Given the description of an element on the screen output the (x, y) to click on. 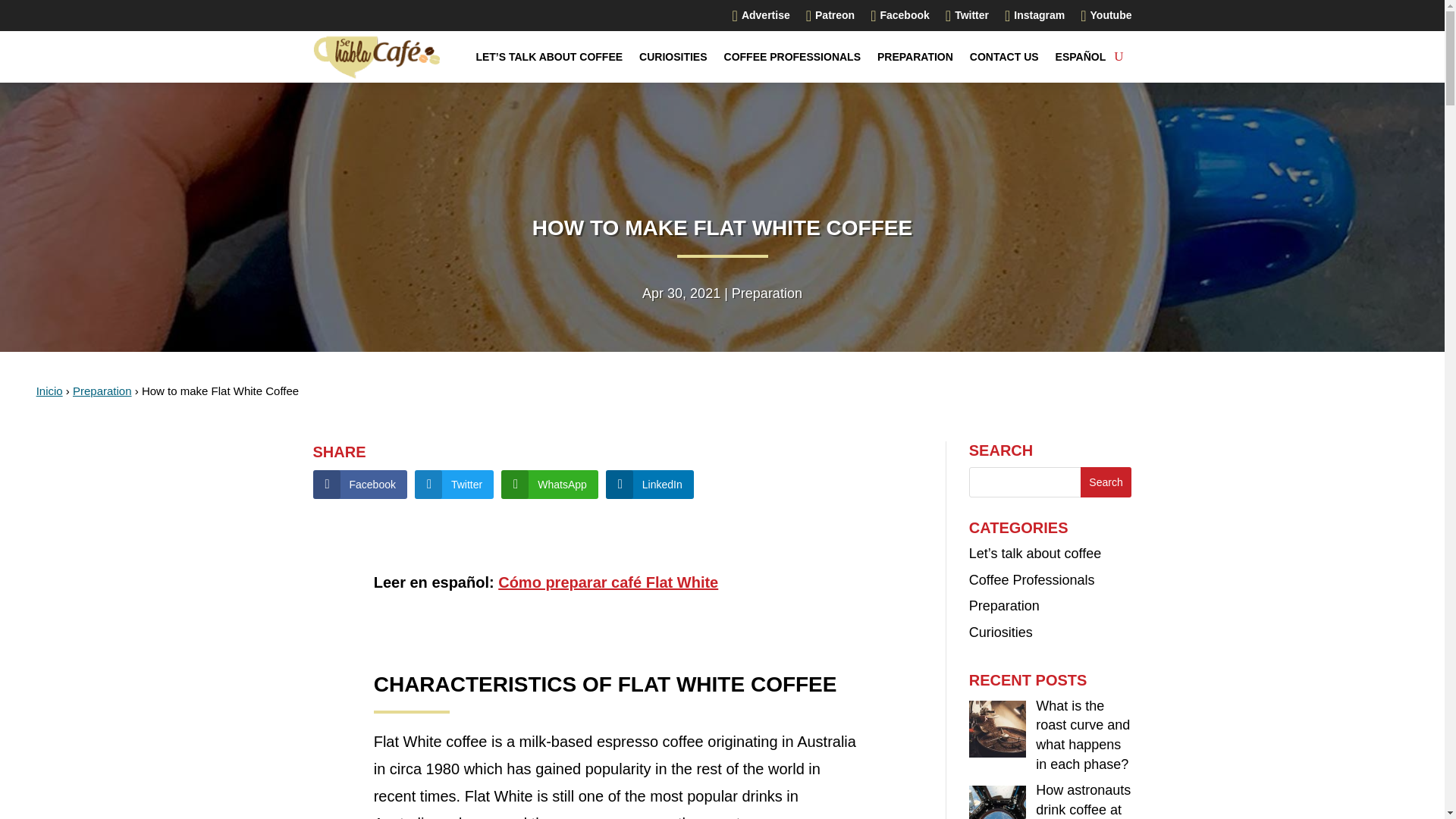
Inicio (49, 390)
COFFEE PROFESSIONALS (791, 56)
PREPARATION (915, 56)
LinkedIn (649, 484)
Preparation (767, 293)
CURIOSITIES (672, 56)
Facebook (359, 484)
WhatsApp (549, 484)
Search (1106, 481)
CONTACT US (1004, 56)
Preparation (102, 390)
Twitter (453, 484)
